Given the description of an element on the screen output the (x, y) to click on. 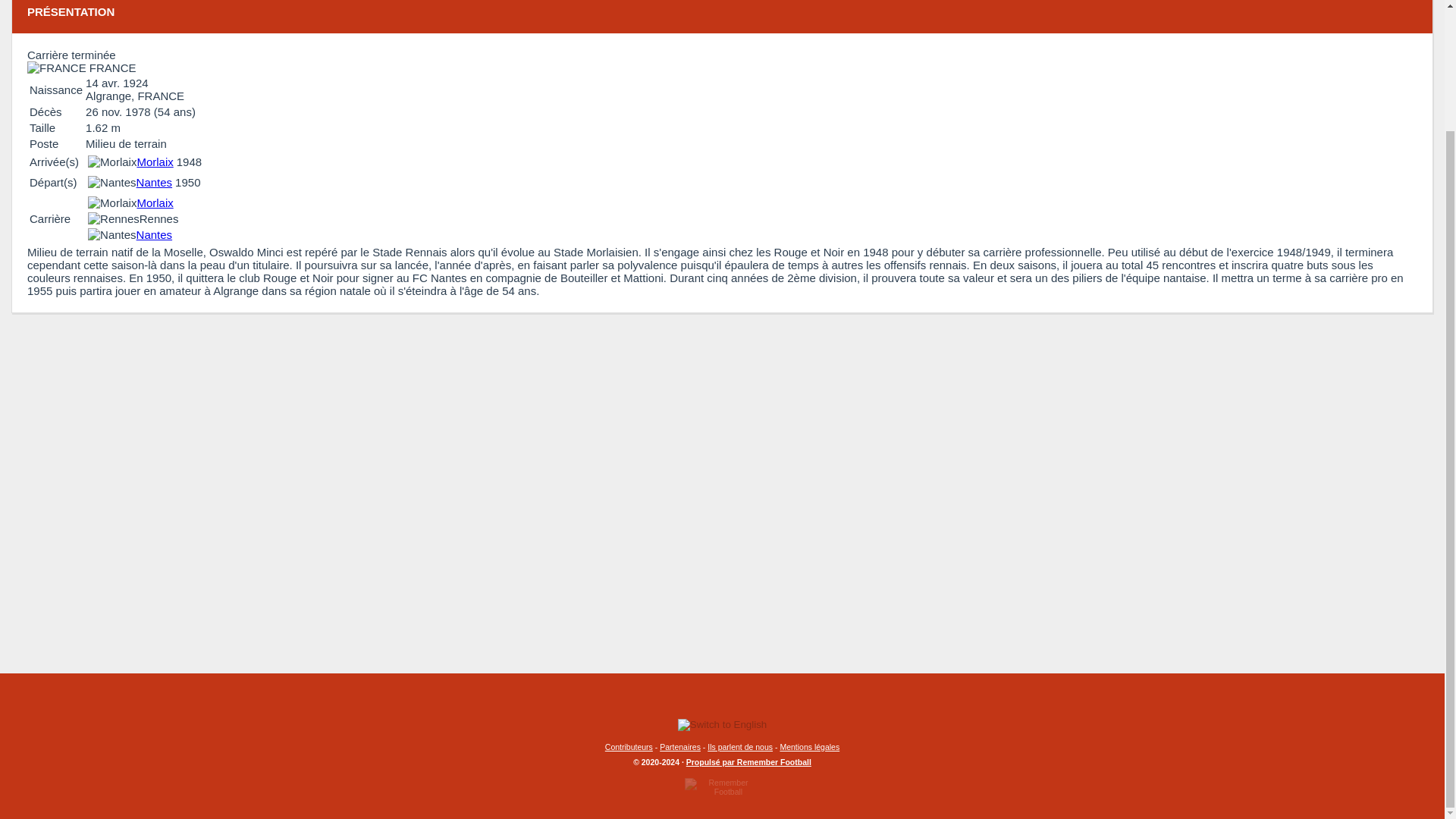
Partenaires (679, 746)
Morlaix (154, 161)
Switch to English (722, 725)
Contributeurs (628, 746)
Ils parlent de nous (740, 746)
Nantes (154, 182)
Morlaix (154, 202)
Nantes (154, 234)
